Given the description of an element on the screen output the (x, y) to click on. 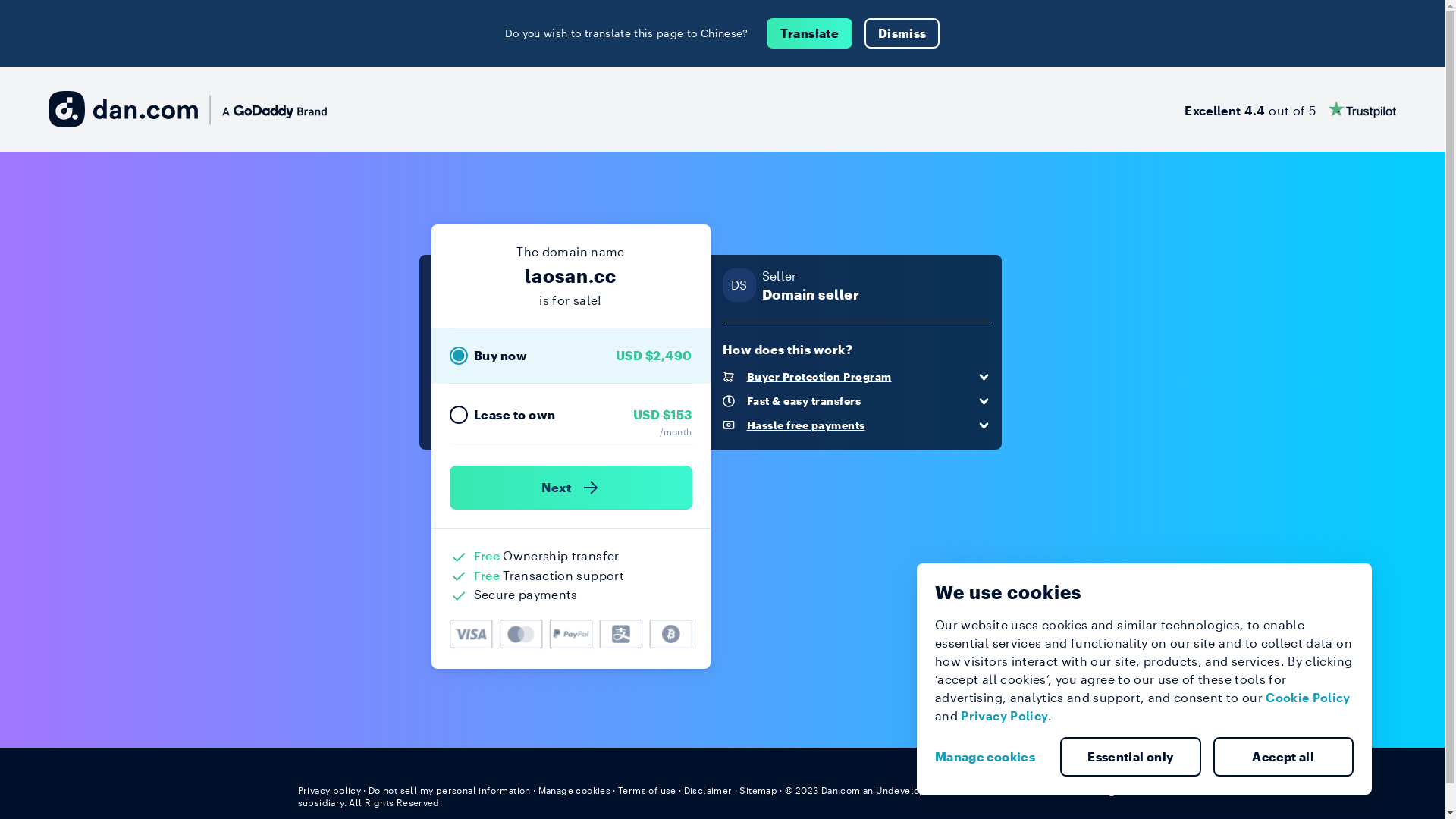
Excellent 4.4 out of 5 Element type: text (1290, 109)
Do not sell my personal information Element type: text (449, 789)
Sitemap Element type: text (758, 789)
Manage cookies Element type: text (991, 756)
Next
) Element type: text (569, 487)
Translate Element type: text (809, 33)
Privacy Policy Element type: text (1004, 715)
Privacy policy Element type: text (328, 789)
Essential only Element type: text (1130, 756)
Accept all Element type: text (1283, 756)
Terms of use Element type: text (647, 789)
English Element type: text (1119, 789)
Cookie Policy Element type: text (1307, 697)
Dismiss Element type: text (901, 33)
Disclaimer Element type: text (708, 789)
Manage cookies Element type: text (574, 790)
